Given the description of an element on the screen output the (x, y) to click on. 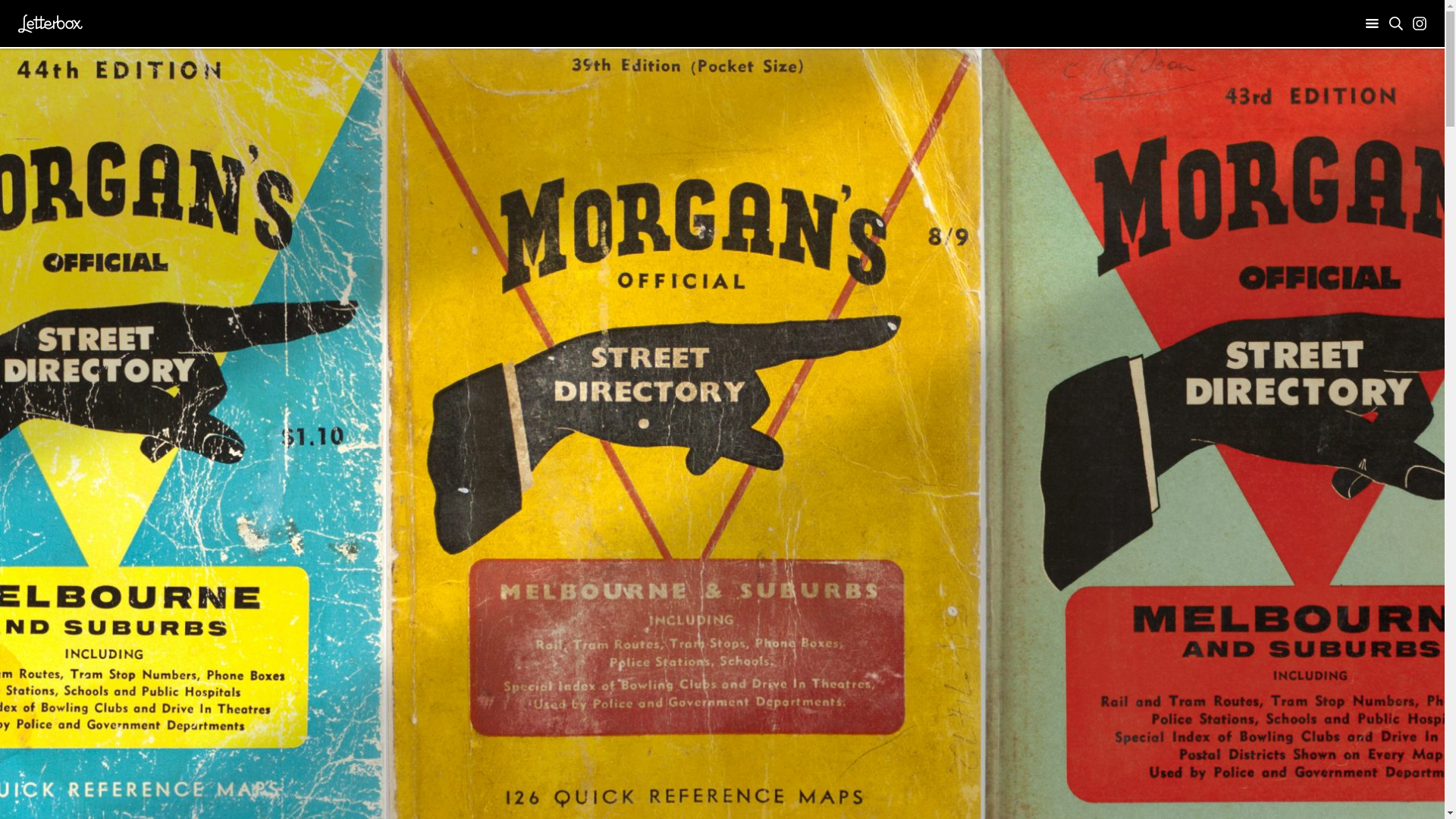
Search Element type: hover (1395, 23)
Menu Element type: hover (1372, 24)
